Given the description of an element on the screen output the (x, y) to click on. 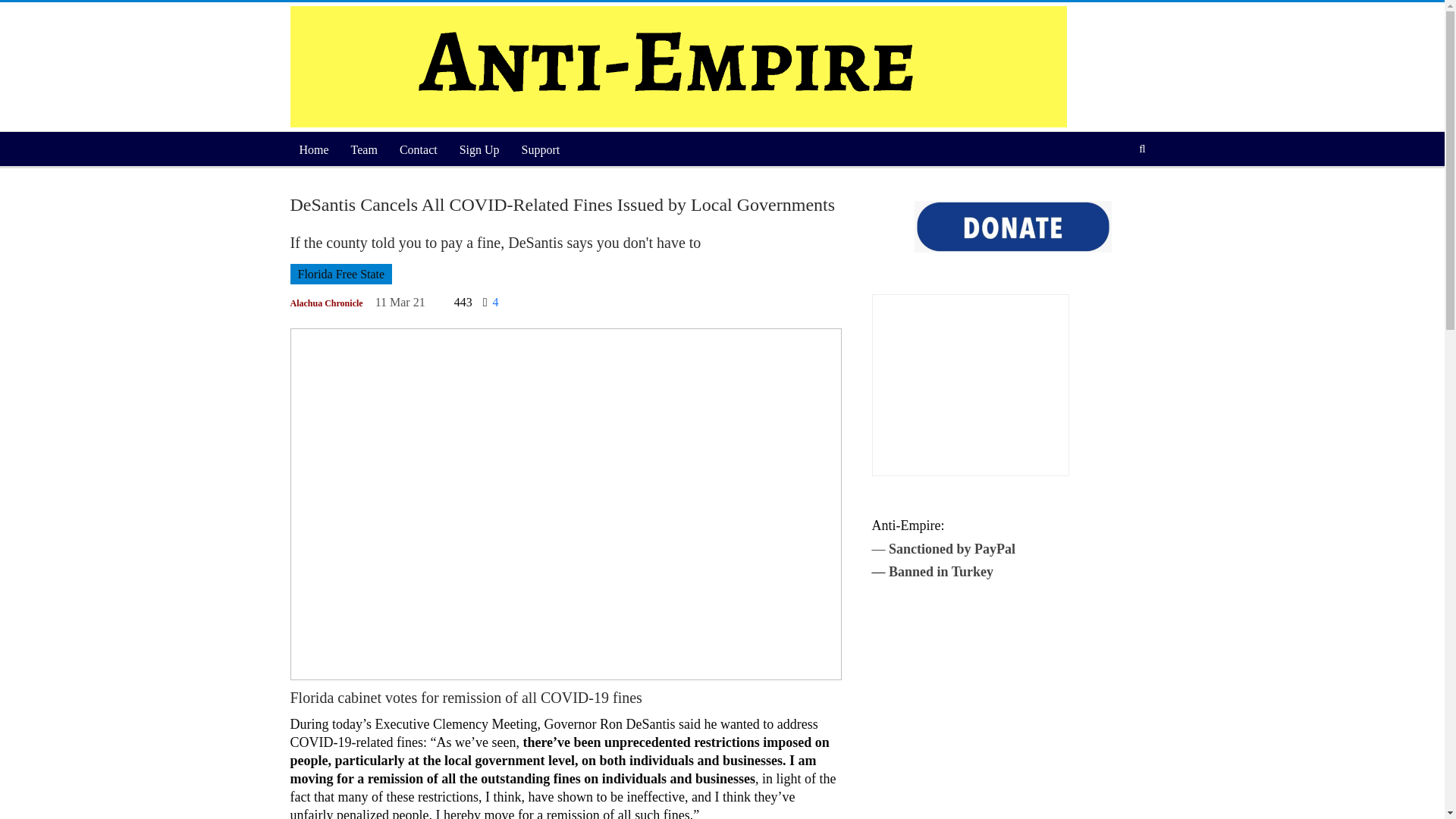
Support (540, 149)
Alachua Chronicle (325, 302)
Florida Free State (340, 273)
Browse Author Articles (325, 302)
Home (313, 149)
Banned in Turkey (940, 571)
Sign Up (478, 149)
Team (364, 149)
Contact (418, 149)
